Given the description of an element on the screen output the (x, y) to click on. 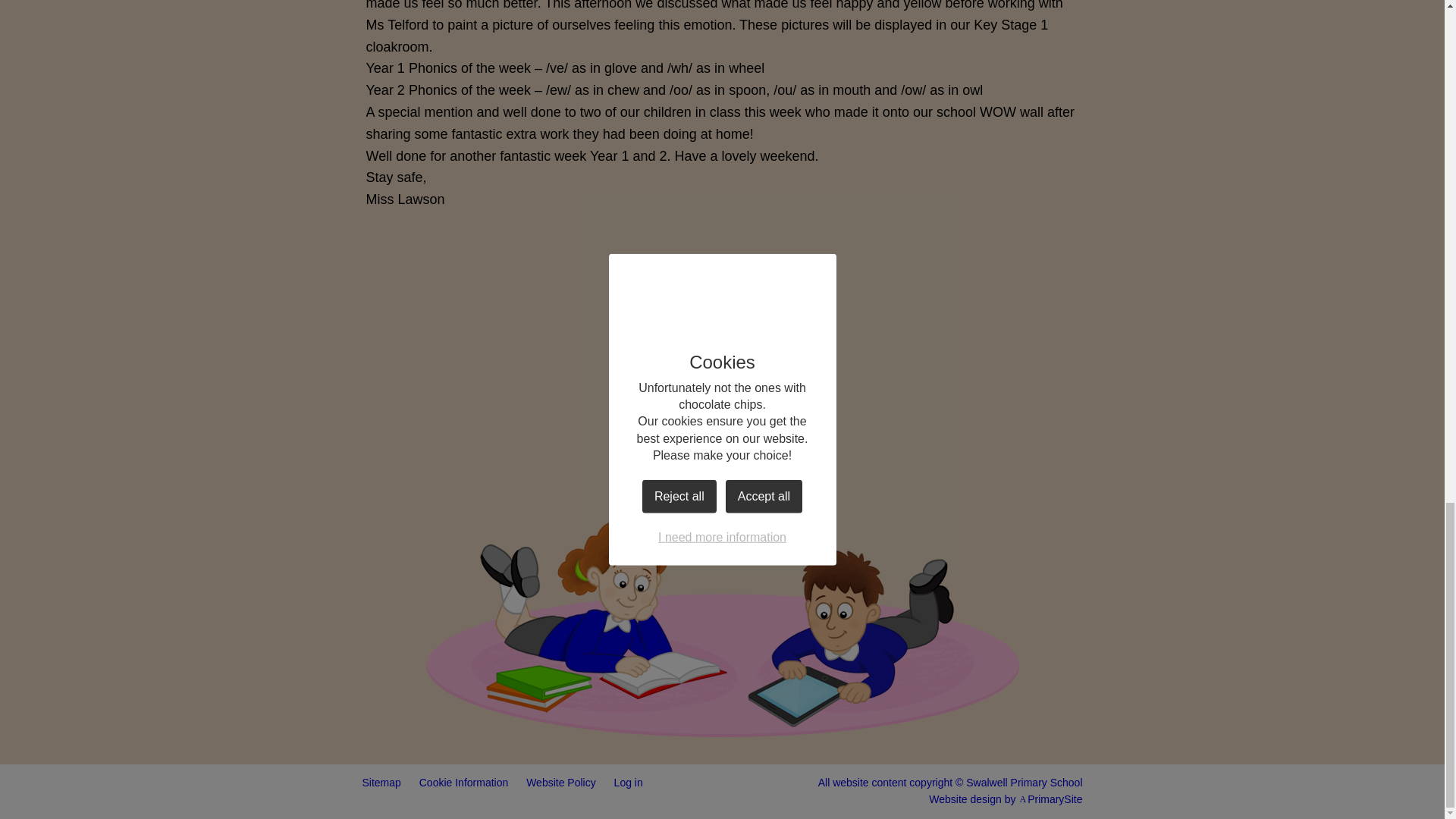
View large version of image (812, 428)
View large version of image (812, 288)
View large version of image (448, 428)
View large version of image (448, 288)
View large version of image (994, 288)
View large version of image (630, 288)
View large version of image (994, 428)
View large version of image (630, 428)
